Given the description of an element on the screen output the (x, y) to click on. 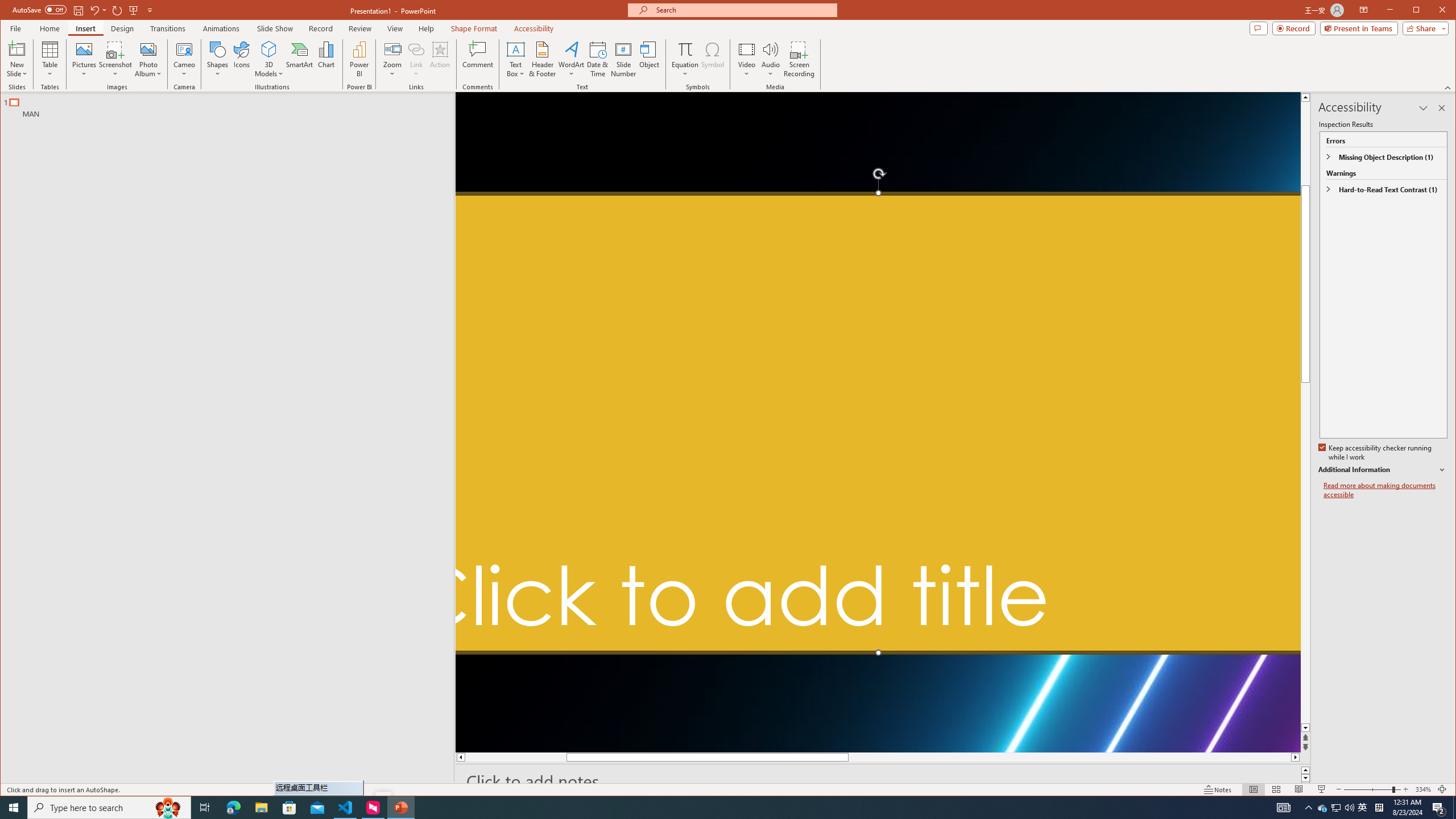
Neon laser lights aligned to form a triangle (877, 421)
Symbol... (712, 59)
Chart... (325, 59)
SmartArt... (299, 59)
